Given the description of an element on the screen output the (x, y) to click on. 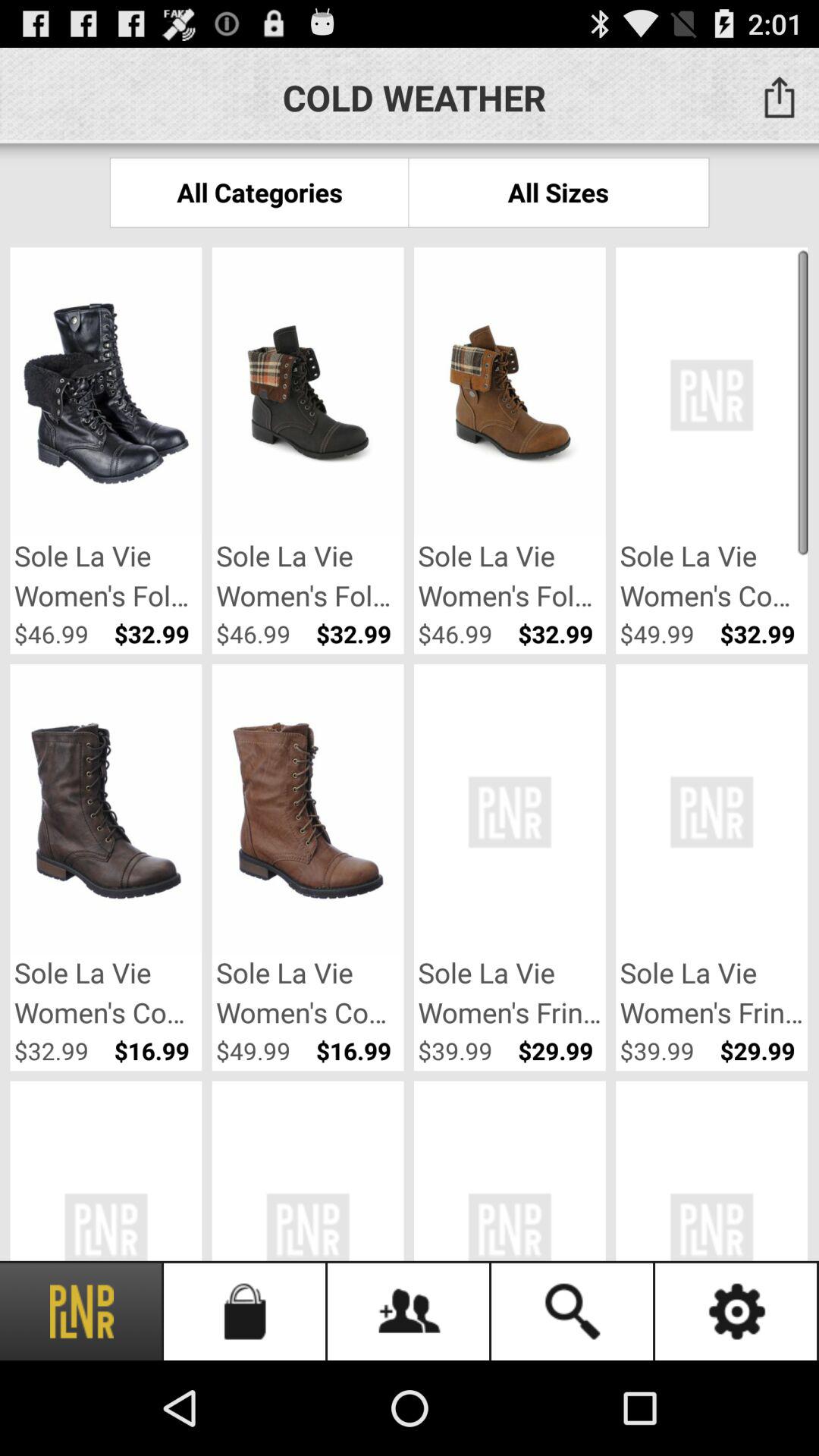
open icon next to all categories icon (558, 192)
